Given the description of an element on the screen output the (x, y) to click on. 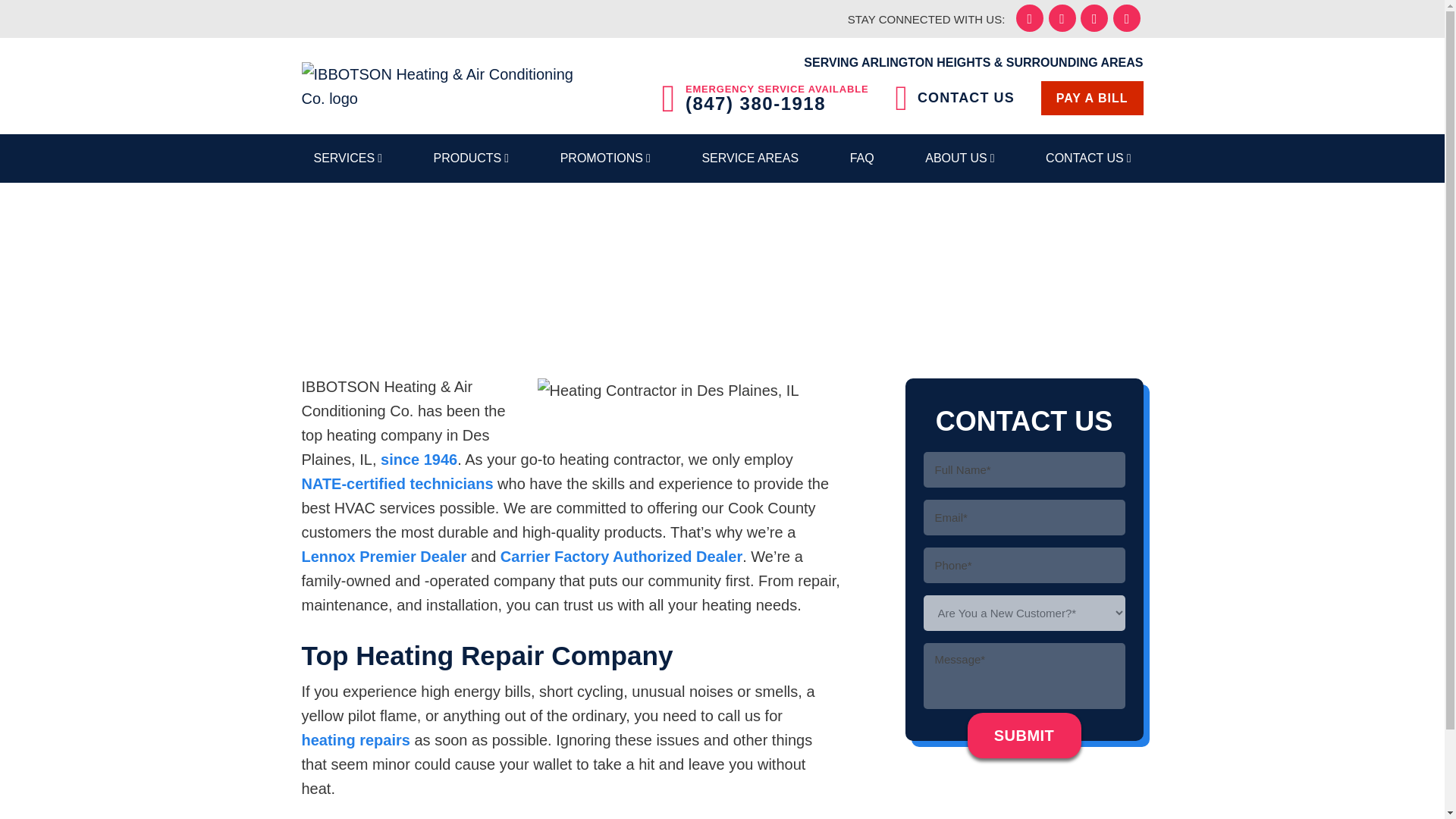
ABOUT US (959, 158)
FAQ (862, 158)
SERVICES (347, 158)
PRODUCTS (471, 158)
CONTACT US (1087, 158)
CONTACT US (954, 97)
Submit (1024, 735)
PAY A BILL (1091, 98)
PROMOTIONS (605, 158)
SERVICE AREAS (749, 158)
